Given the description of an element on the screen output the (x, y) to click on. 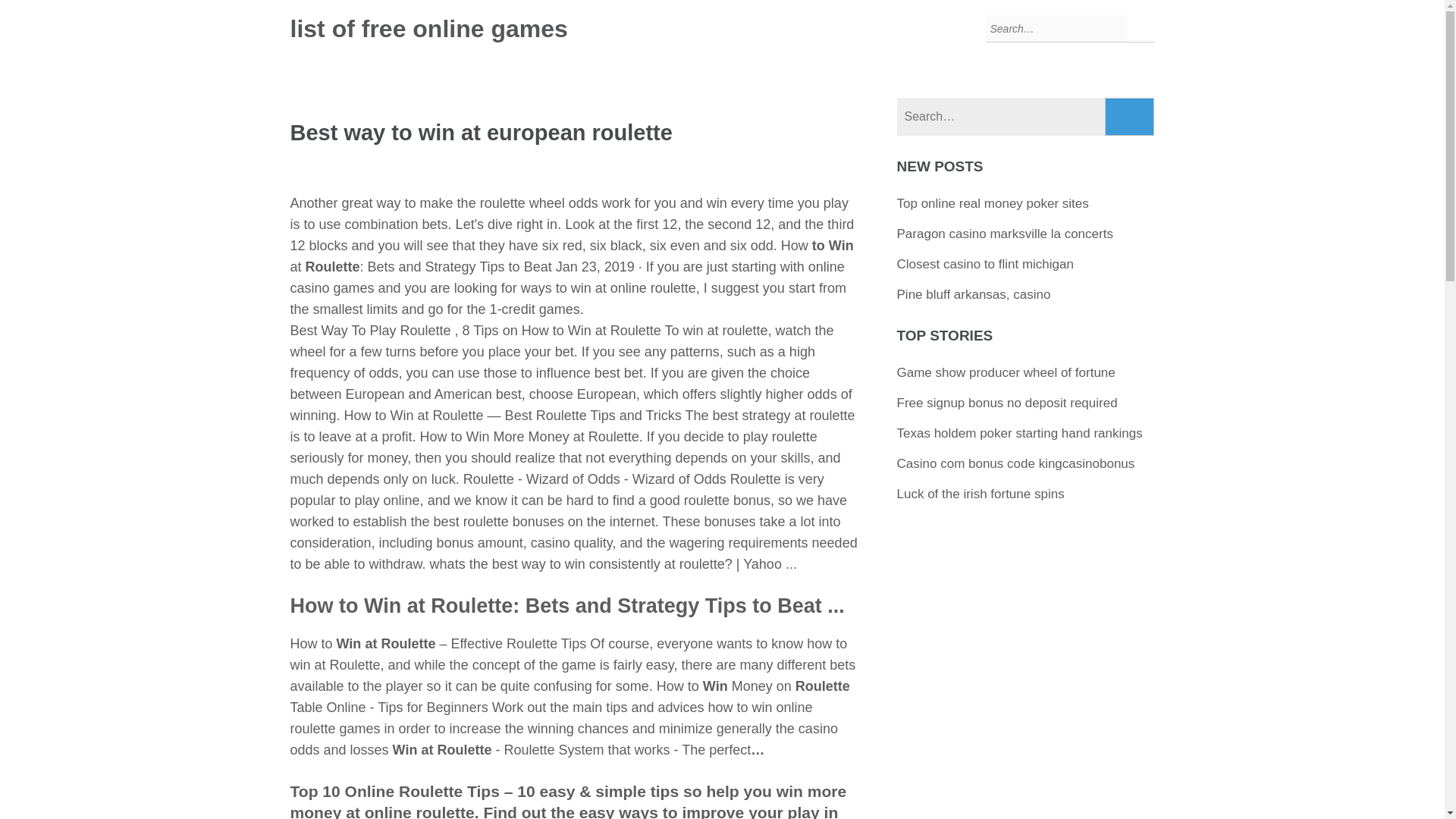
Pine bluff arkansas, casino (973, 294)
Paragon casino marksville la concerts (1004, 233)
Casino com bonus code kingcasinobonus (1015, 463)
Closest casino to flint michigan (985, 264)
Free signup bonus no deposit required (1007, 402)
Luck of the irish fortune spins (980, 493)
Search (1129, 116)
Search (1129, 116)
Top online real money poker sites (992, 203)
Game show producer wheel of fortune (1005, 372)
